Given the description of an element on the screen output the (x, y) to click on. 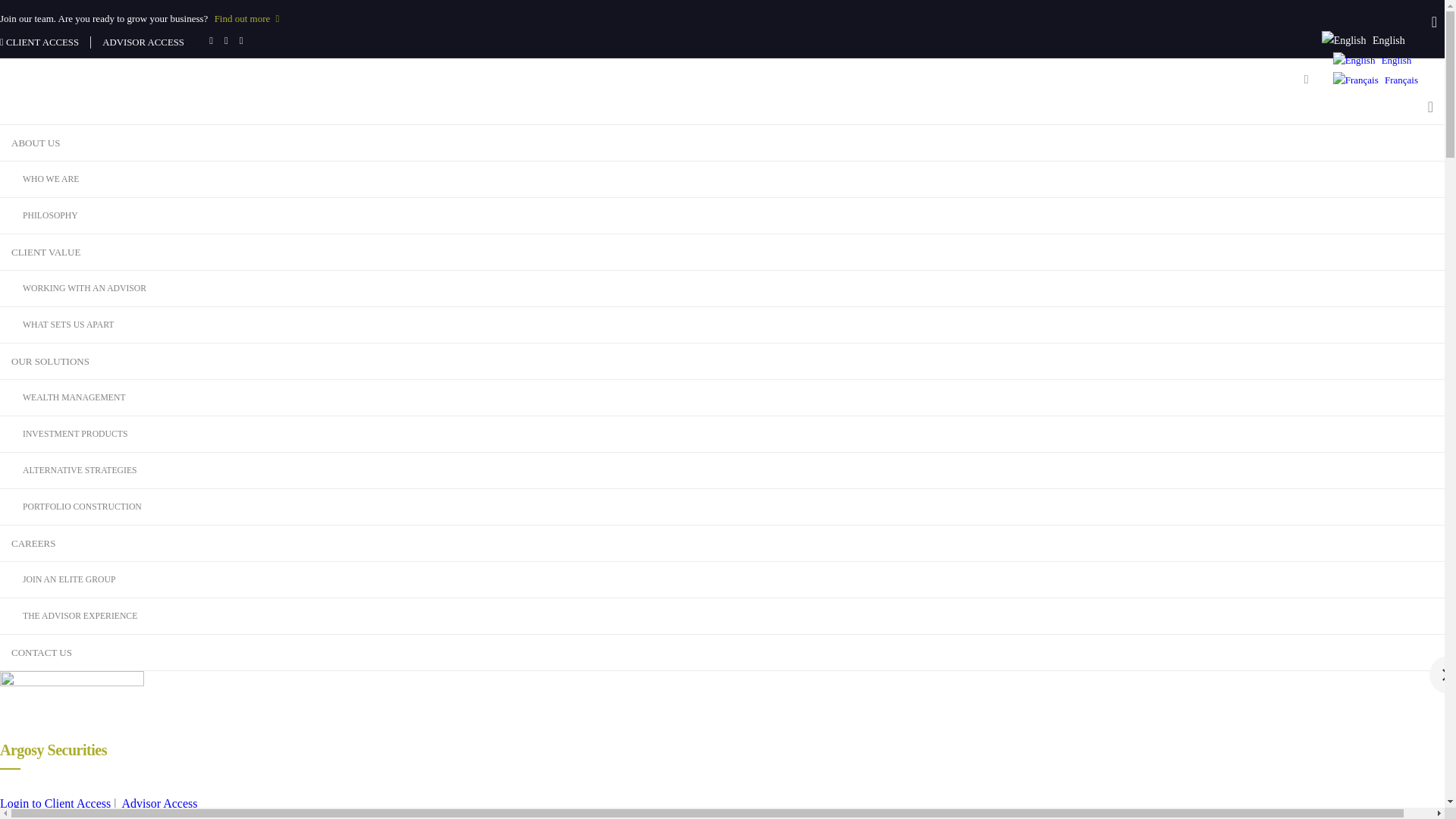
Login to Client Access Element type: text (55, 803)
Careers Element type: text (1127, 13)
JOIN AN ELITE GROUP Element type: text (722, 579)
English Element type: text (1372, 60)
PHILOSOPHY Element type: text (722, 215)
Client Value Element type: text (979, 13)
Submit Element type: text (721, 515)
About Us Element type: text (910, 13)
CLIENT ACCESS Element type: text (39, 42)
WHO WE ARE Element type: text (722, 179)
Find out more Element type: text (246, 18)
CONTACT US Element type: text (722, 652)
ALTERNATIVE STRATEGIES Element type: text (722, 470)
WORKING WITH AN ADVISOR Element type: text (722, 288)
PORTFOLIO CONSTRUCTION Element type: text (722, 507)
ADVISOR ACCESS Element type: text (144, 42)
Advisor Access Element type: text (159, 803)
Our Solutions Element type: text (1059, 13)
WHAT SETS US APART Element type: text (722, 325)
CLIENT VALUE Element type: text (722, 252)
ABOUT US Element type: text (722, 143)
CAREERS Element type: text (722, 543)
OUR SOLUTIONS Element type: text (722, 361)
INVESTMENT PRODUCTS Element type: text (722, 434)
Contact Us Element type: text (1188, 13)
THE ADVISOR EXPERIENCE Element type: text (722, 616)
WEALTH MANAGEMENT Element type: text (722, 397)
